Given the description of an element on the screen output the (x, y) to click on. 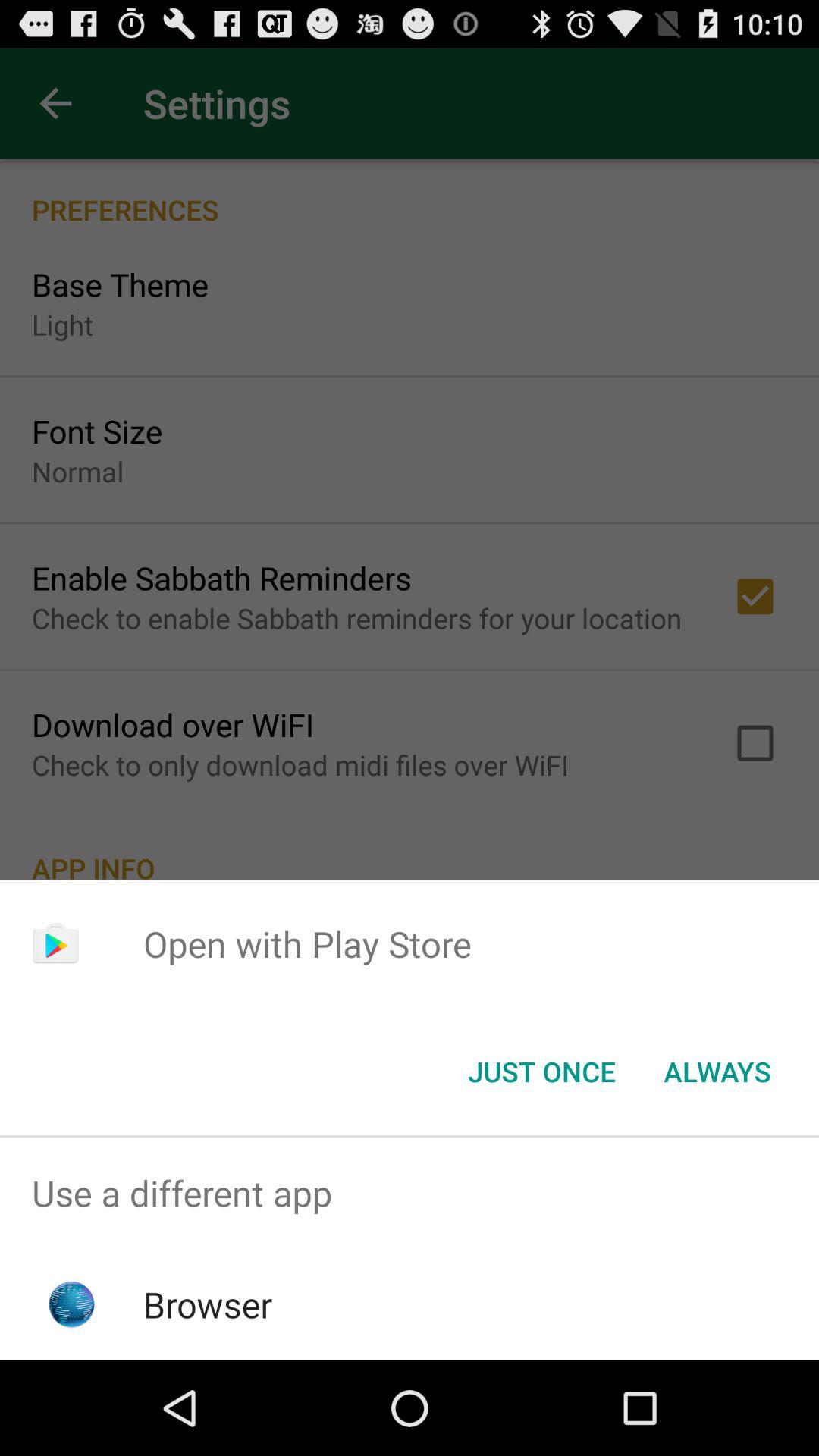
turn off the browser (207, 1304)
